Given the description of an element on the screen output the (x, y) to click on. 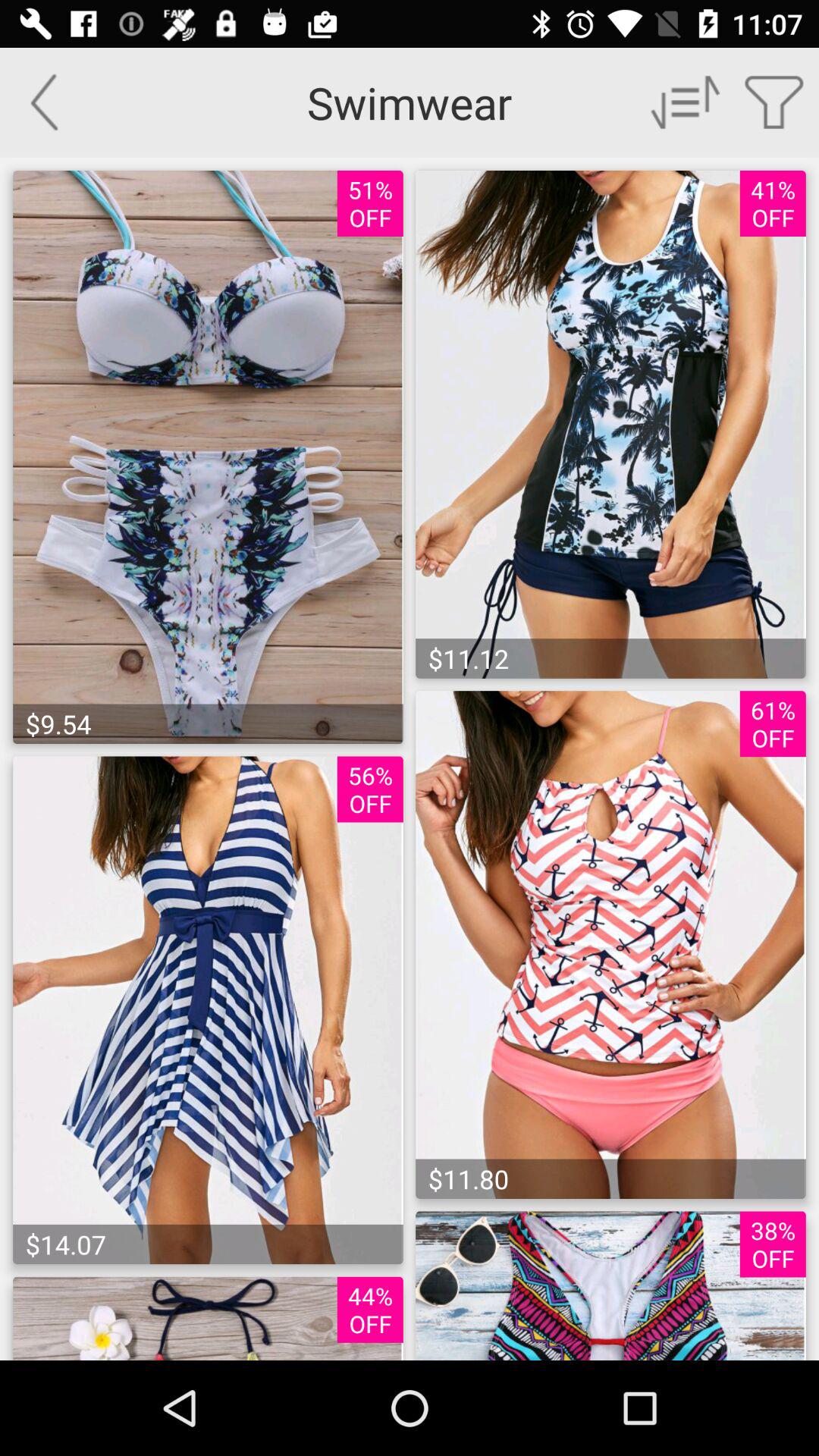
navigate search results (686, 102)
